Given the description of an element on the screen output the (x, y) to click on. 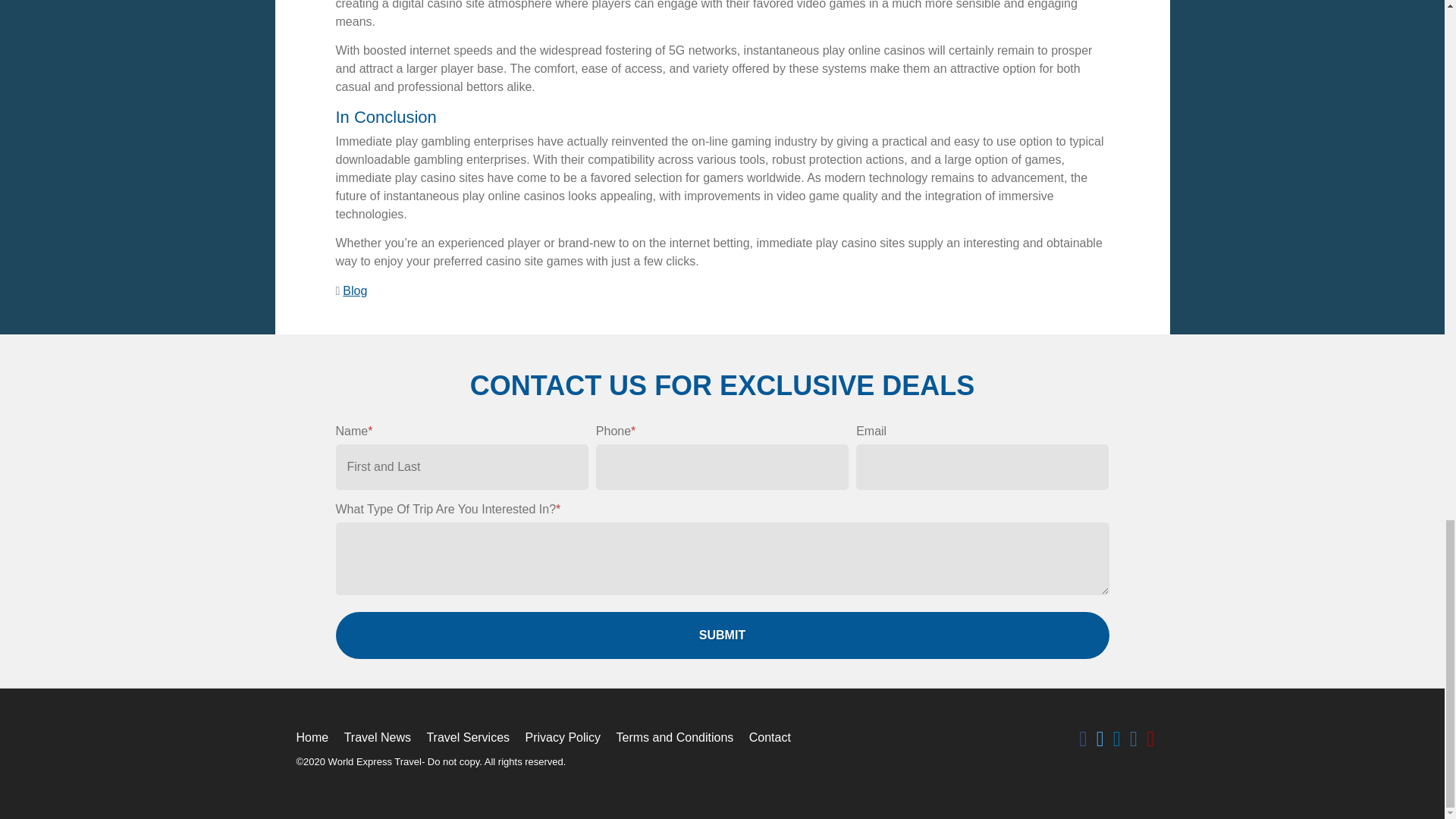
Categories (338, 290)
Submit (721, 635)
